Given the description of an element on the screen output the (x, y) to click on. 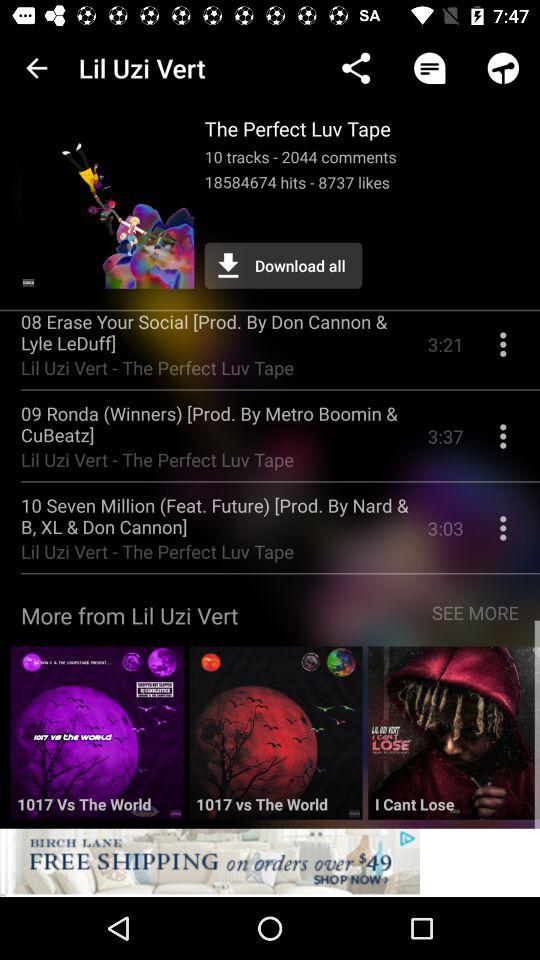
play next (454, 740)
